Given the description of an element on the screen output the (x, y) to click on. 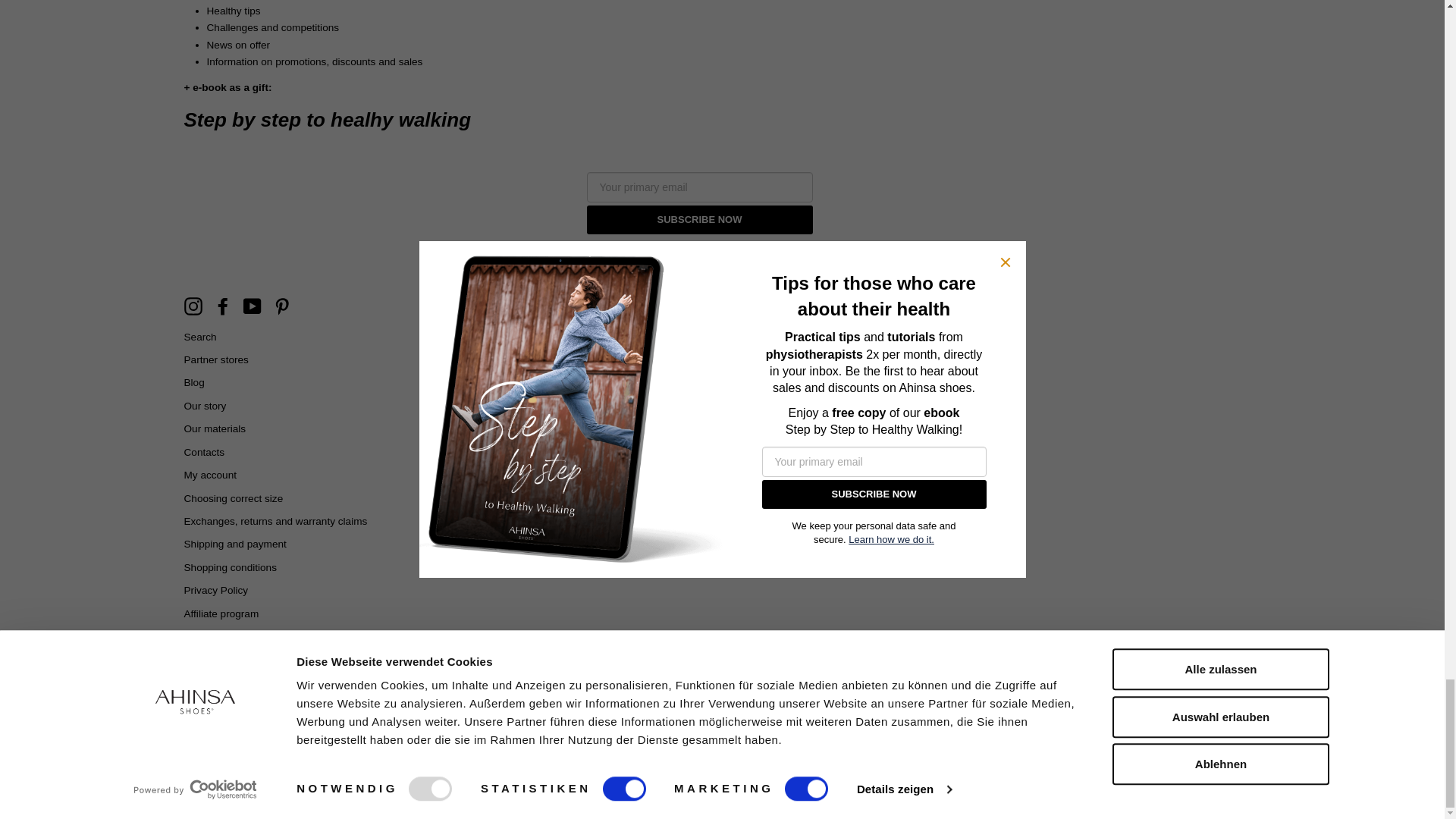
PayPal (756, 705)
Google Pay (721, 705)
Apple Pay (686, 705)
